Given the description of an element on the screen output the (x, y) to click on. 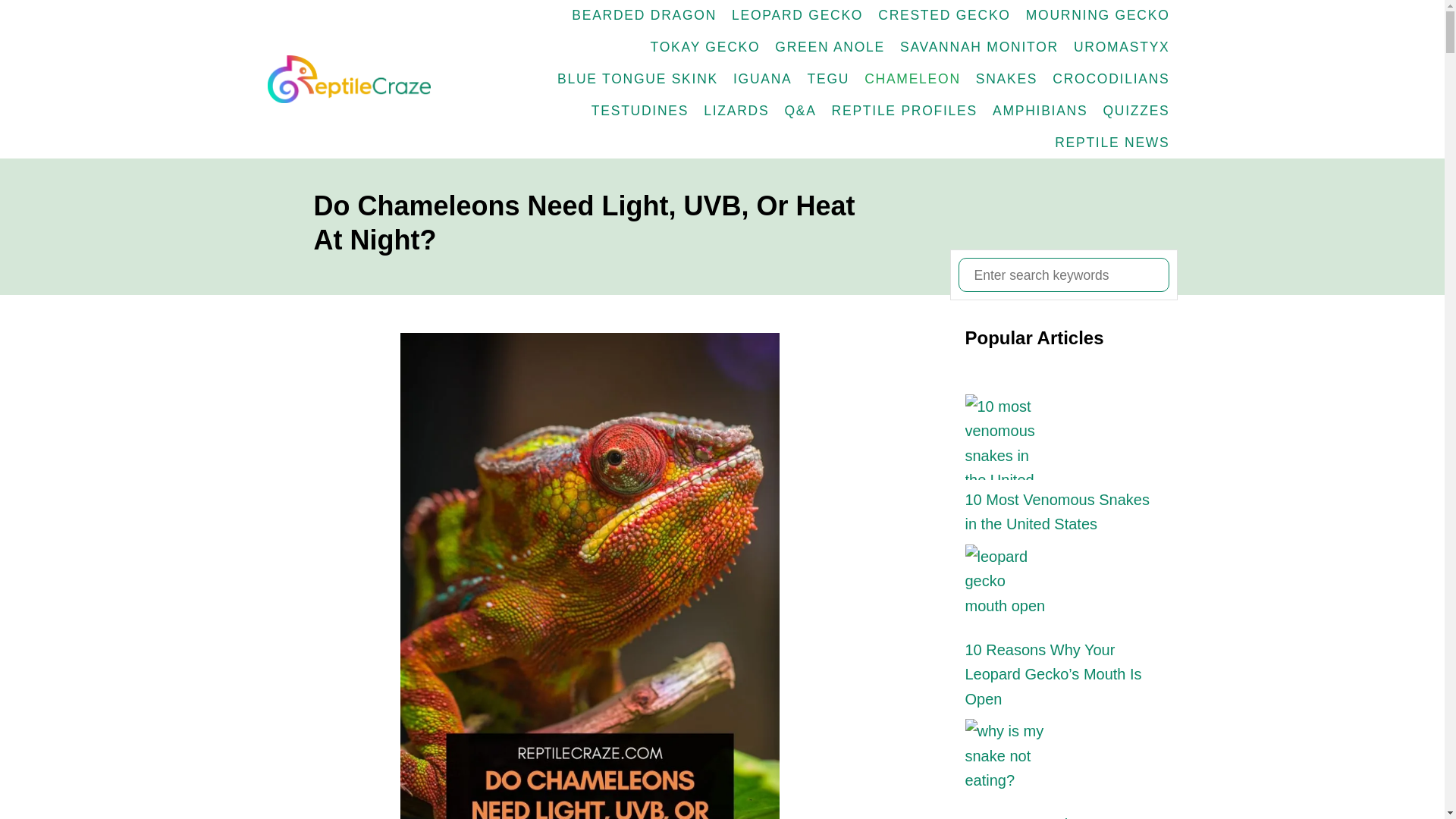
MOURNING GECKO (1097, 15)
Reptile Craze (354, 79)
IGUANA (762, 79)
GREEN ANOLE (829, 47)
TEGU (828, 79)
CRESTED GECKO (943, 15)
SAVANNAH MONITOR (978, 47)
UROMASTYX (1121, 47)
SNAKES (1006, 79)
BEARDED DRAGON (643, 15)
